Given the description of an element on the screen output the (x, y) to click on. 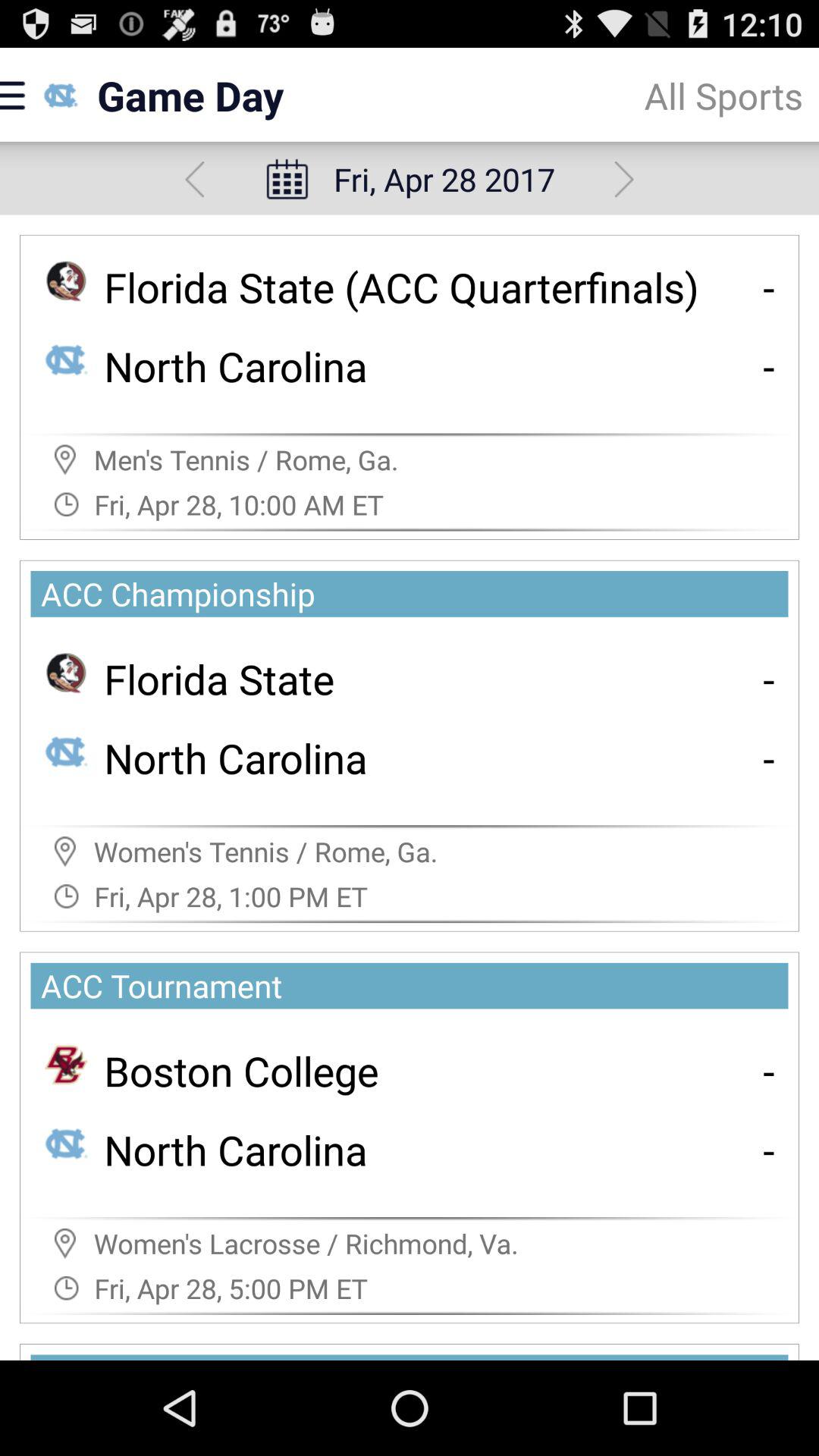
turn on the icon to the left of the fri apr 28 (194, 178)
